Given the description of an element on the screen output the (x, y) to click on. 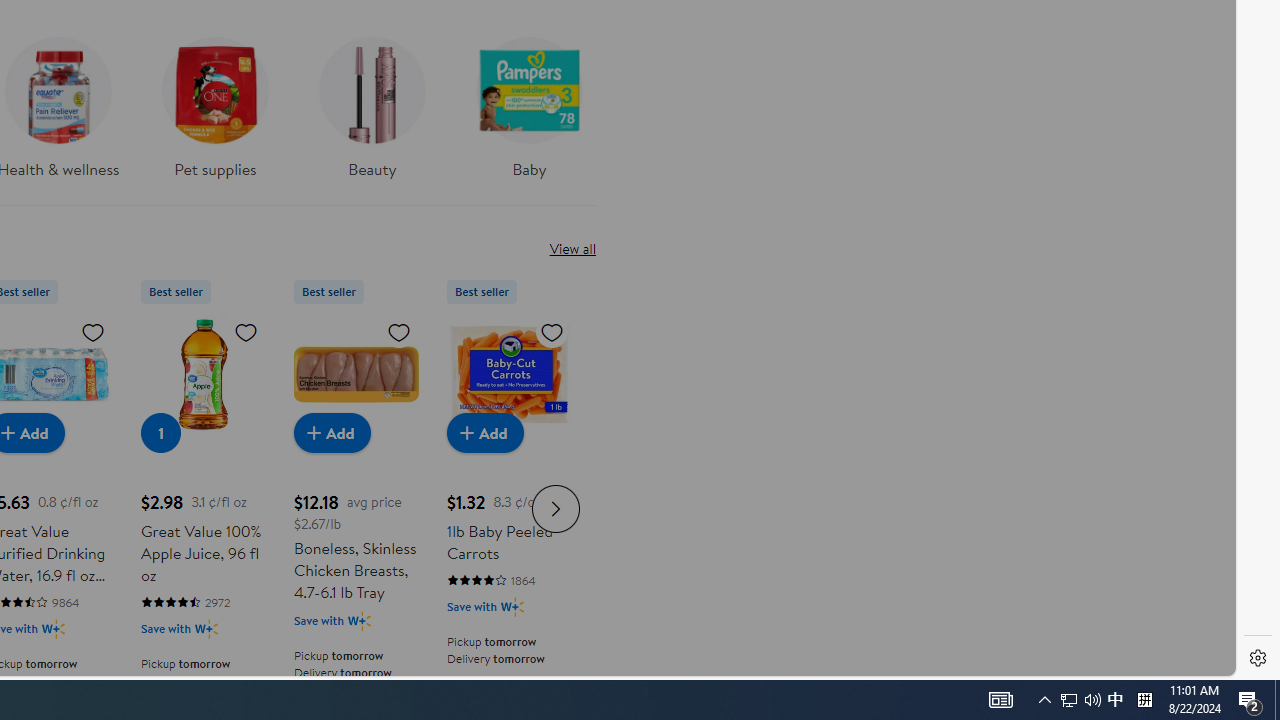
1 in cart, Great Value 100% Apple Juice, 96 fl oz (160, 431)
Walmart Plus (512, 606)
Baby (529, 101)
Baby (529, 114)
